Given the description of an element on the screen output the (x, y) to click on. 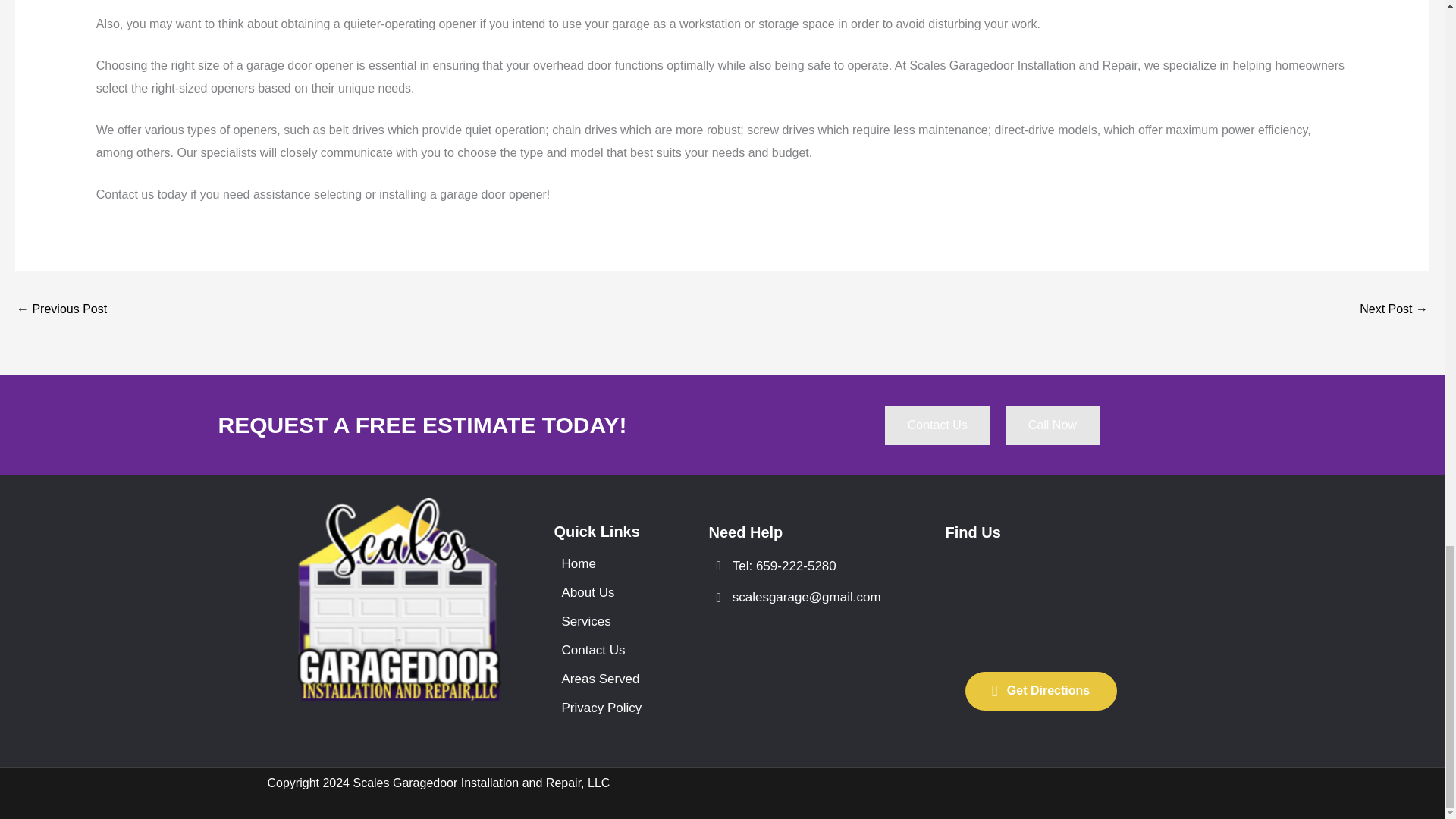
Get Directions (1039, 690)
Contact Us (937, 425)
About Us (607, 592)
Privacy Policy (607, 707)
Tel: 659-222-5280 (803, 566)
Call Now (1052, 425)
Why Won't My Garage Door Close (1393, 310)
Contact Us (607, 650)
logo (399, 599)
Services (607, 621)
Standard Garage Door Sizes: A Comprehensive Guide (61, 310)
Areas Served (607, 678)
Home (607, 563)
